Given the description of an element on the screen output the (x, y) to click on. 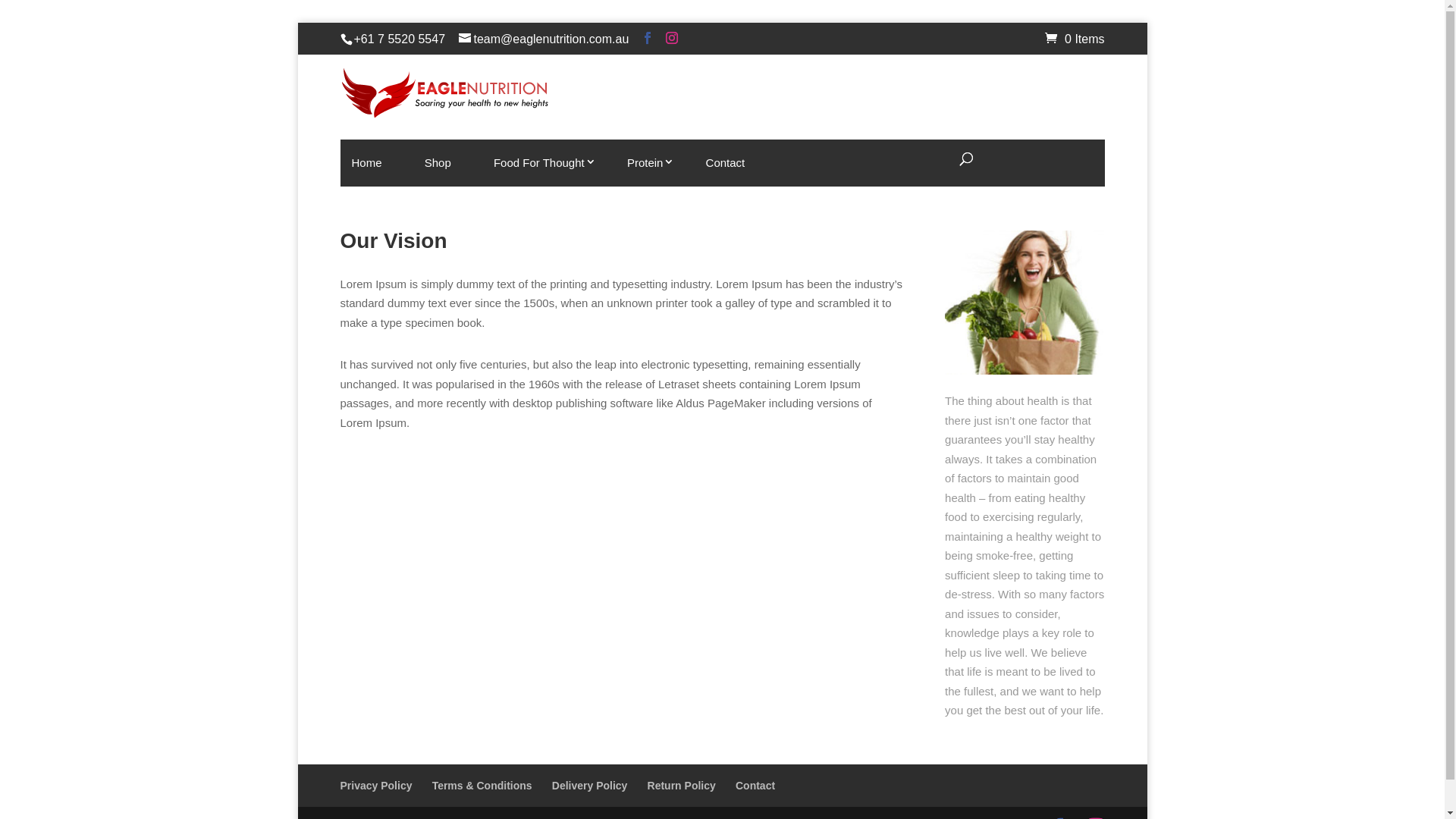
Shop Element type: text (437, 162)
Protein Element type: text (644, 162)
Contact Element type: text (725, 162)
0 Items Element type: text (1074, 38)
Terms & Conditions Element type: text (482, 785)
Privacy Policy Element type: text (375, 785)
team@eaglenutrition.com.au Element type: text (543, 38)
Food For Thought Element type: text (539, 162)
Contact Element type: text (755, 785)
Return Policy Element type: text (681, 785)
+61 7 5520 5547 Element type: text (399, 38)
Delivery Policy Element type: text (589, 785)
Home Element type: text (365, 162)
